Given the description of an element on the screen output the (x, y) to click on. 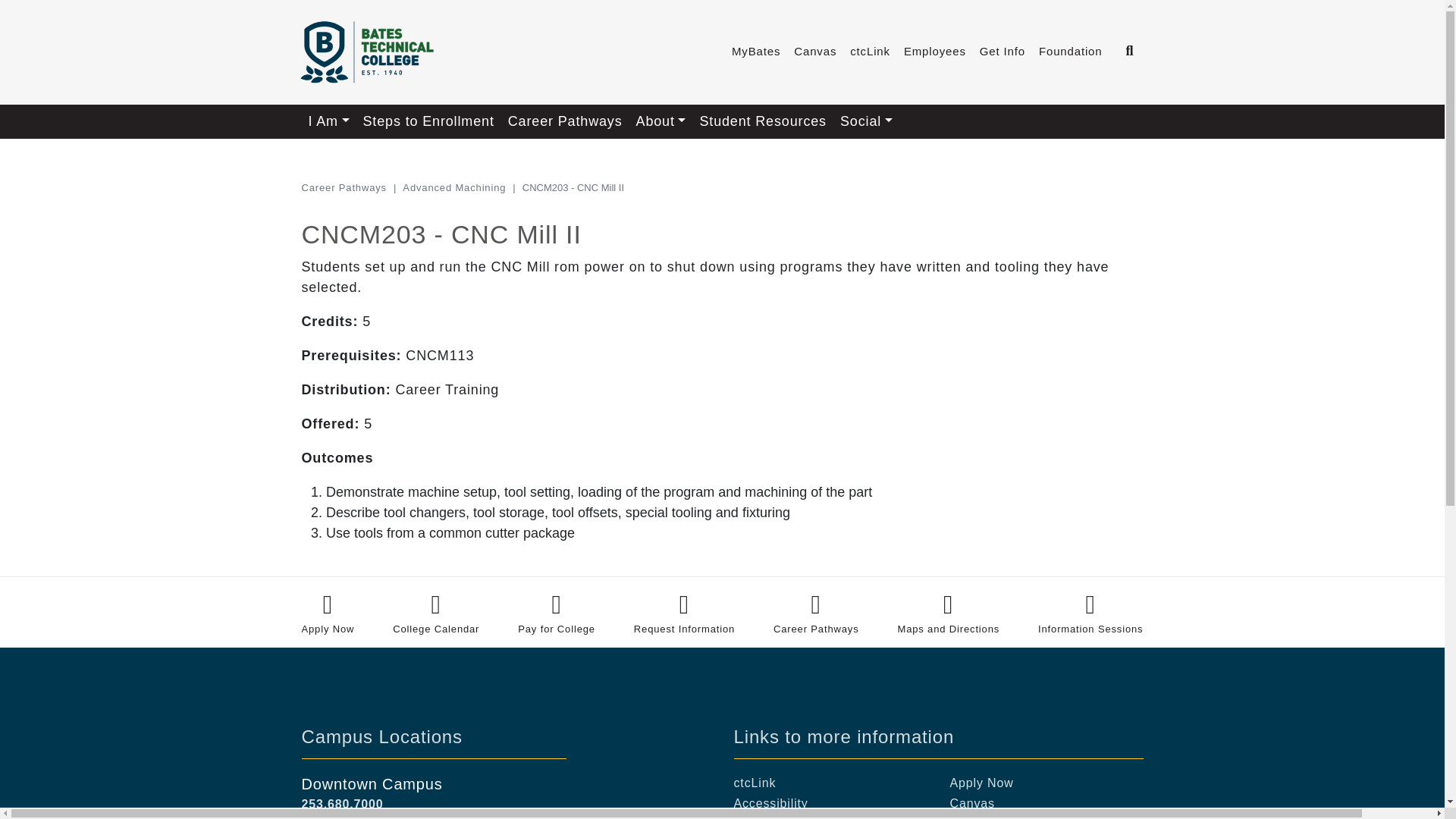
ctcLink (869, 52)
Get Info (1002, 52)
MyBates (756, 52)
Foundation (1070, 52)
I Am (328, 121)
Home Page (365, 52)
Canvas (815, 52)
Employees (934, 52)
